Given the description of an element on the screen output the (x, y) to click on. 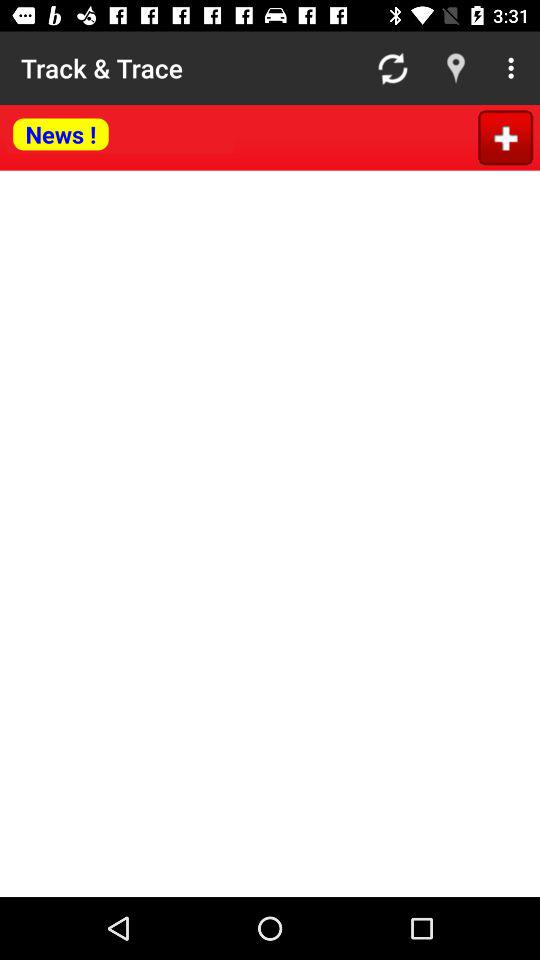
add options (505, 137)
